Given the description of an element on the screen output the (x, y) to click on. 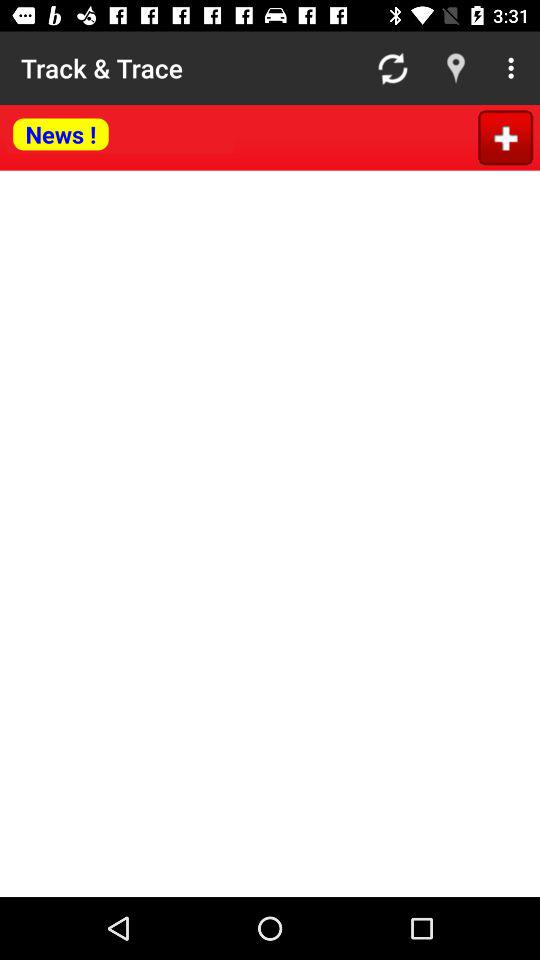
add options (505, 137)
